Given the description of an element on the screen output the (x, y) to click on. 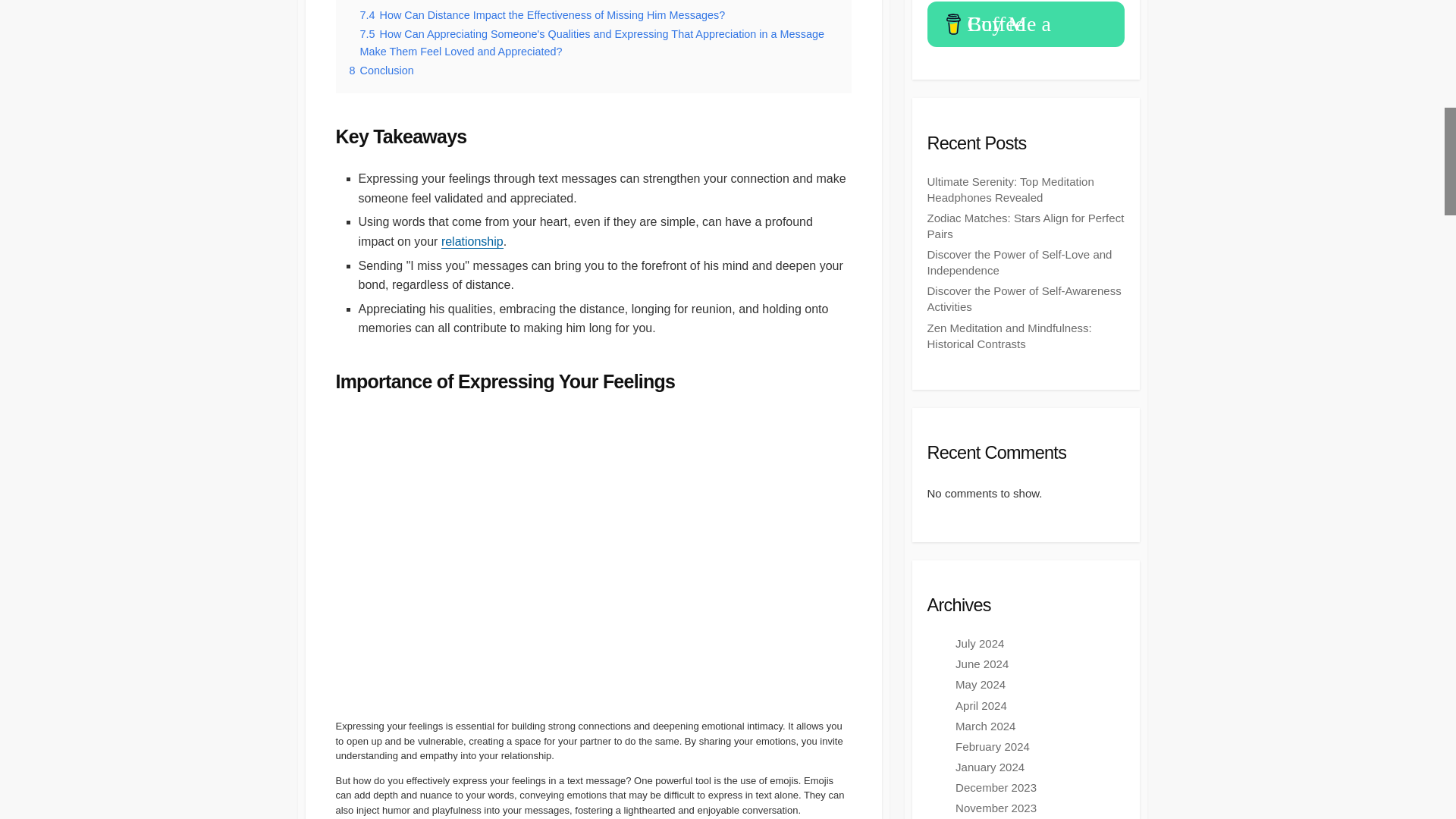
8 Conclusion (381, 70)
relationship (472, 241)
relationship (472, 241)
